Given the description of an element on the screen output the (x, y) to click on. 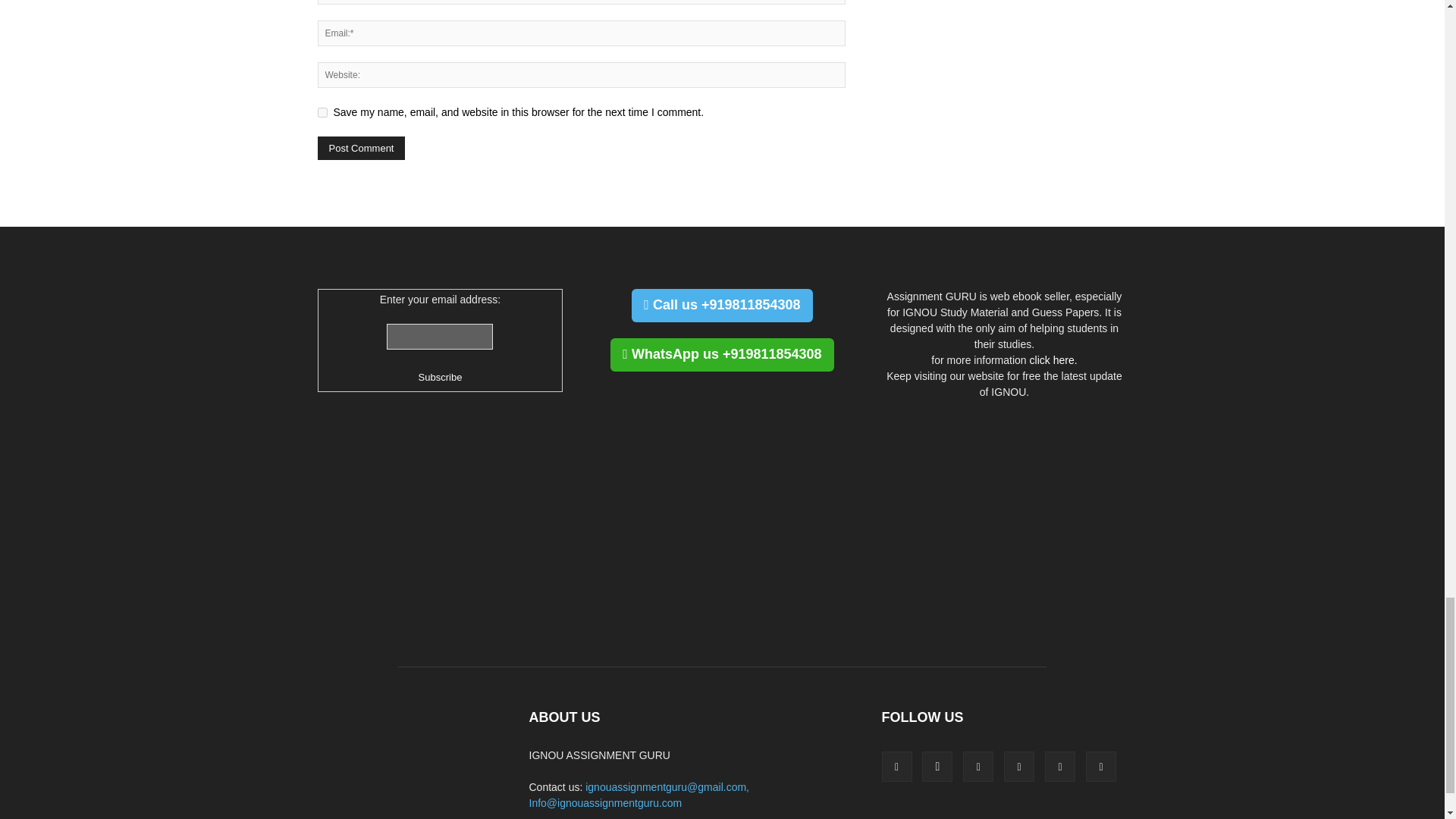
Post Comment (360, 147)
yes (321, 112)
Subscribe (440, 377)
